Given the description of an element on the screen output the (x, y) to click on. 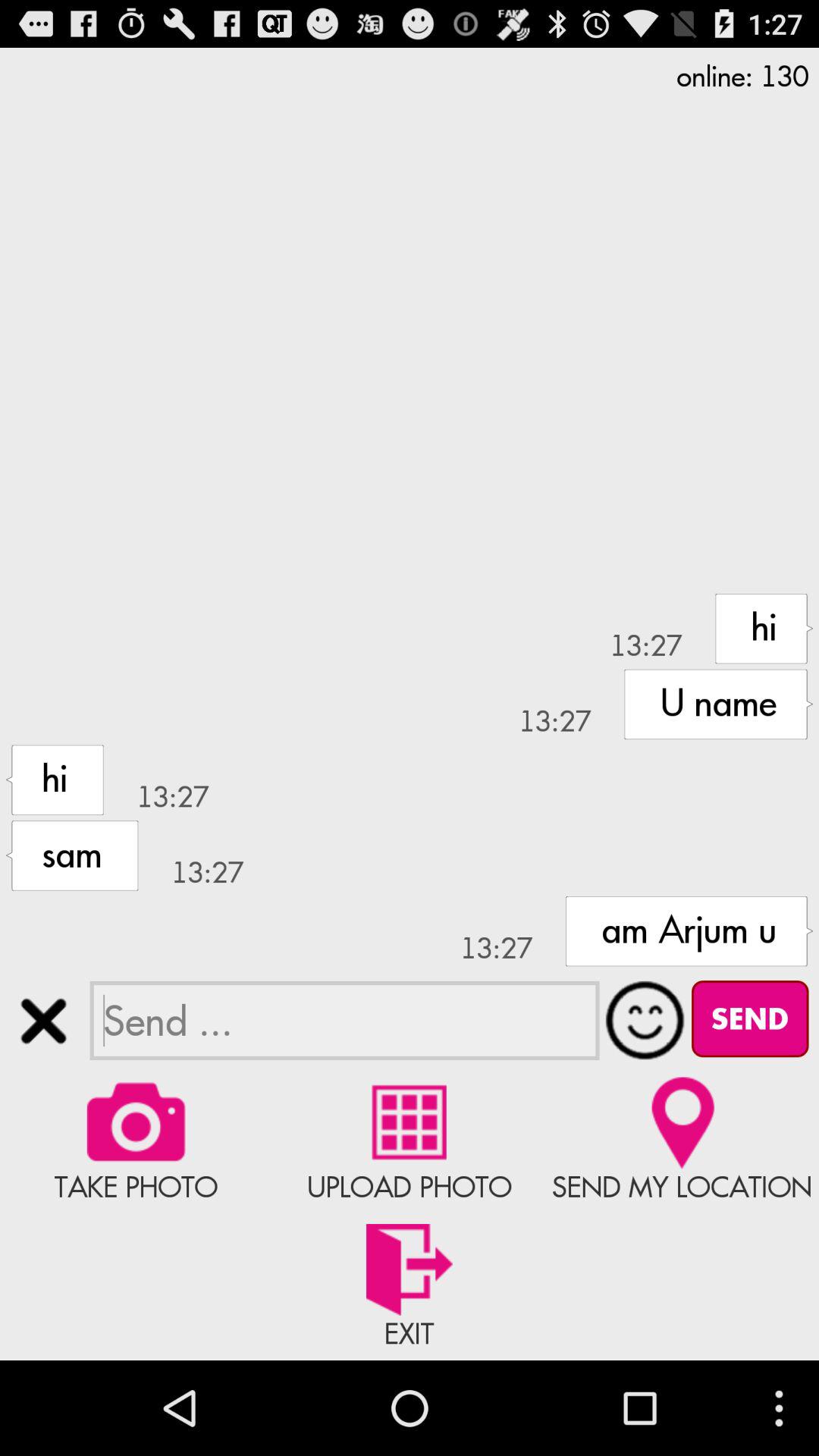
cancel (43, 1020)
